Given the description of an element on the screen output the (x, y) to click on. 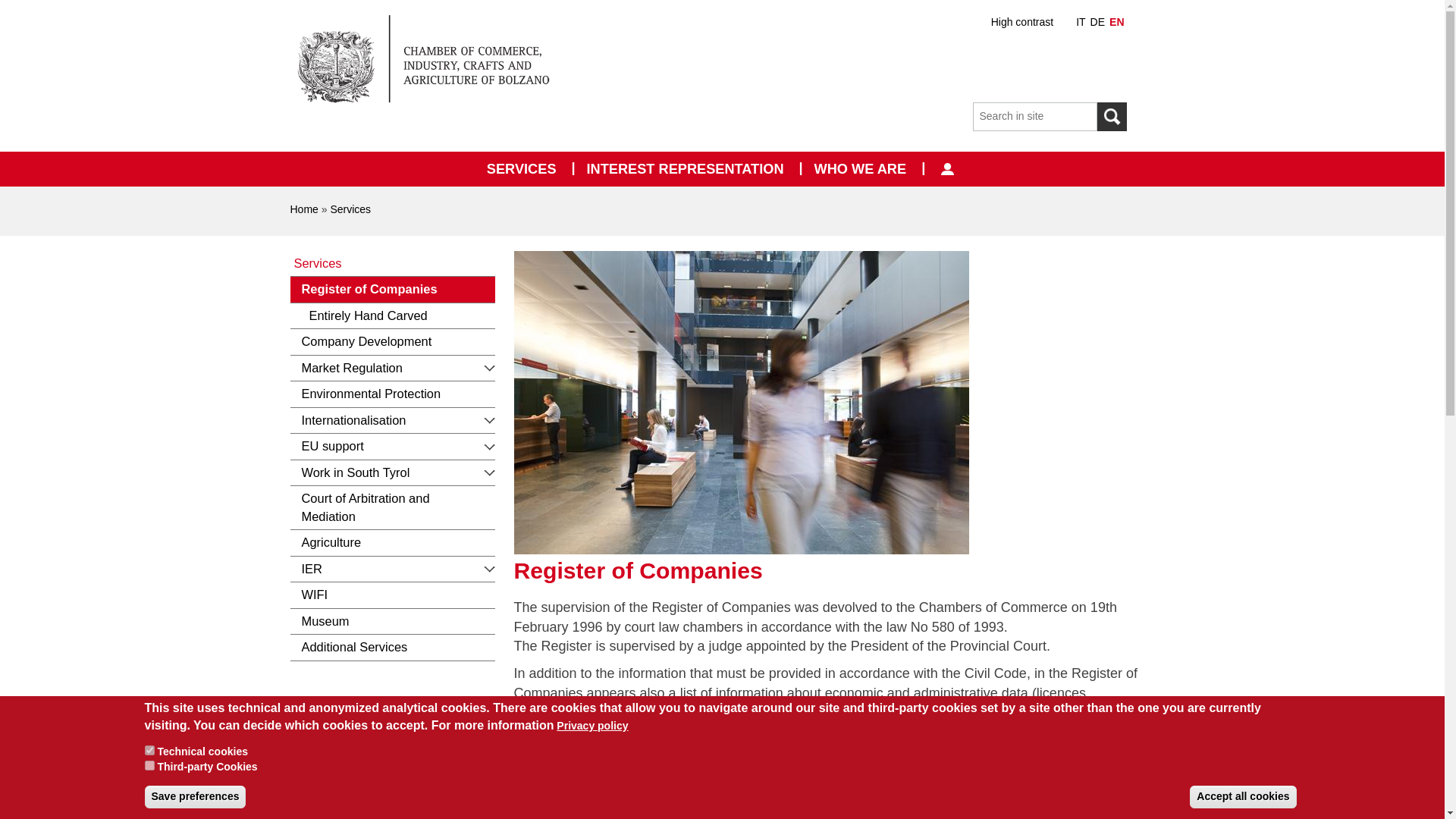
SERVICES (521, 168)
Home (433, 62)
DE (1097, 21)
tecnici (149, 750)
IT (1079, 21)
High contrast (1021, 21)
Registro delle imprese (1079, 21)
EN (1116, 21)
Handelsregister (1097, 21)
Search in site (1034, 116)
Register of Companies (1116, 21)
Search in site (1111, 116)
